Given the description of an element on the screen output the (x, y) to click on. 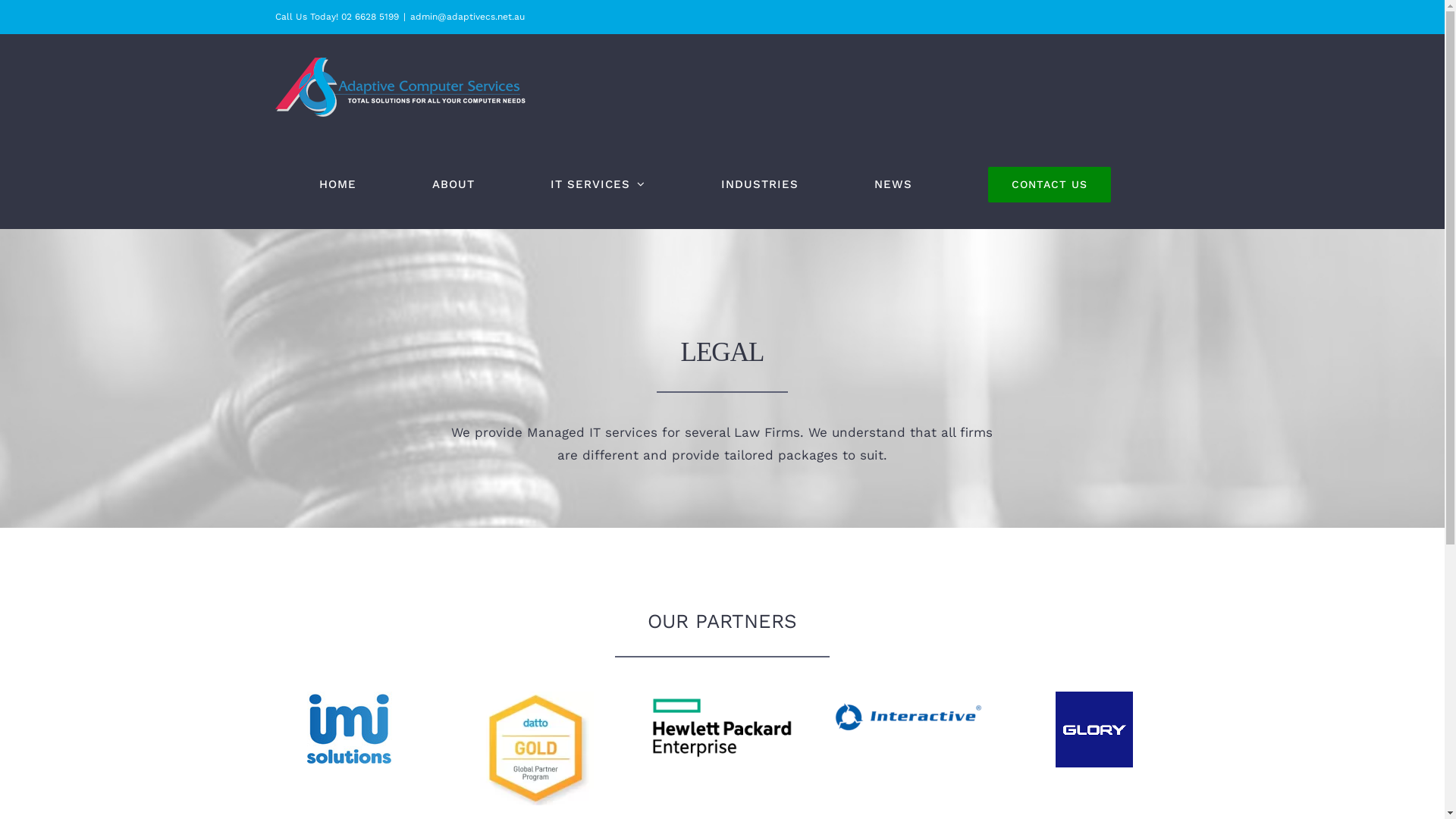
HOME Element type: text (336, 184)
ABOUT Element type: text (453, 184)
INDUSTRIES Element type: text (758, 184)
NEWS Element type: text (892, 184)
IT SERVICES Element type: text (597, 184)
admin@adaptivecs.net.au Element type: text (466, 16)
CONTACT US Element type: text (1048, 184)
